Given the description of an element on the screen output the (x, y) to click on. 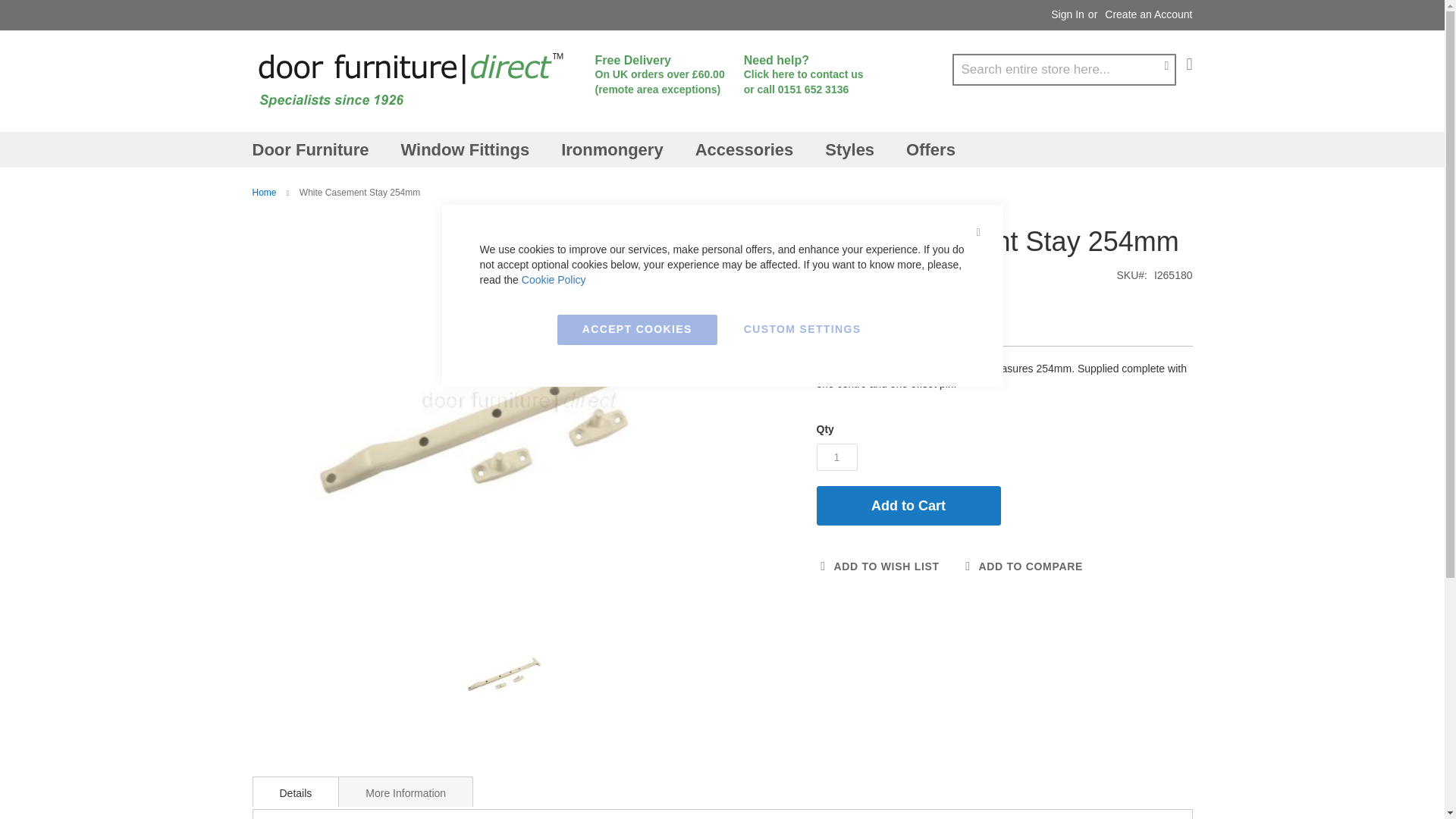
Need help? (776, 60)
Create an Account (1148, 14)
ACCEPT COOKIES (637, 329)
Click here to contact us (803, 73)
Door Furniture Direct (409, 80)
Door Furniture (313, 149)
CUSTOM SETTINGS (801, 329)
Free Delivery (632, 60)
1 (836, 456)
Sign In (1067, 14)
Go to Home Page (263, 192)
0151 652 3136 (812, 89)
Cookie Policy (553, 279)
Cookie Policy (553, 279)
Add to Cart (907, 505)
